Given the description of an element on the screen output the (x, y) to click on. 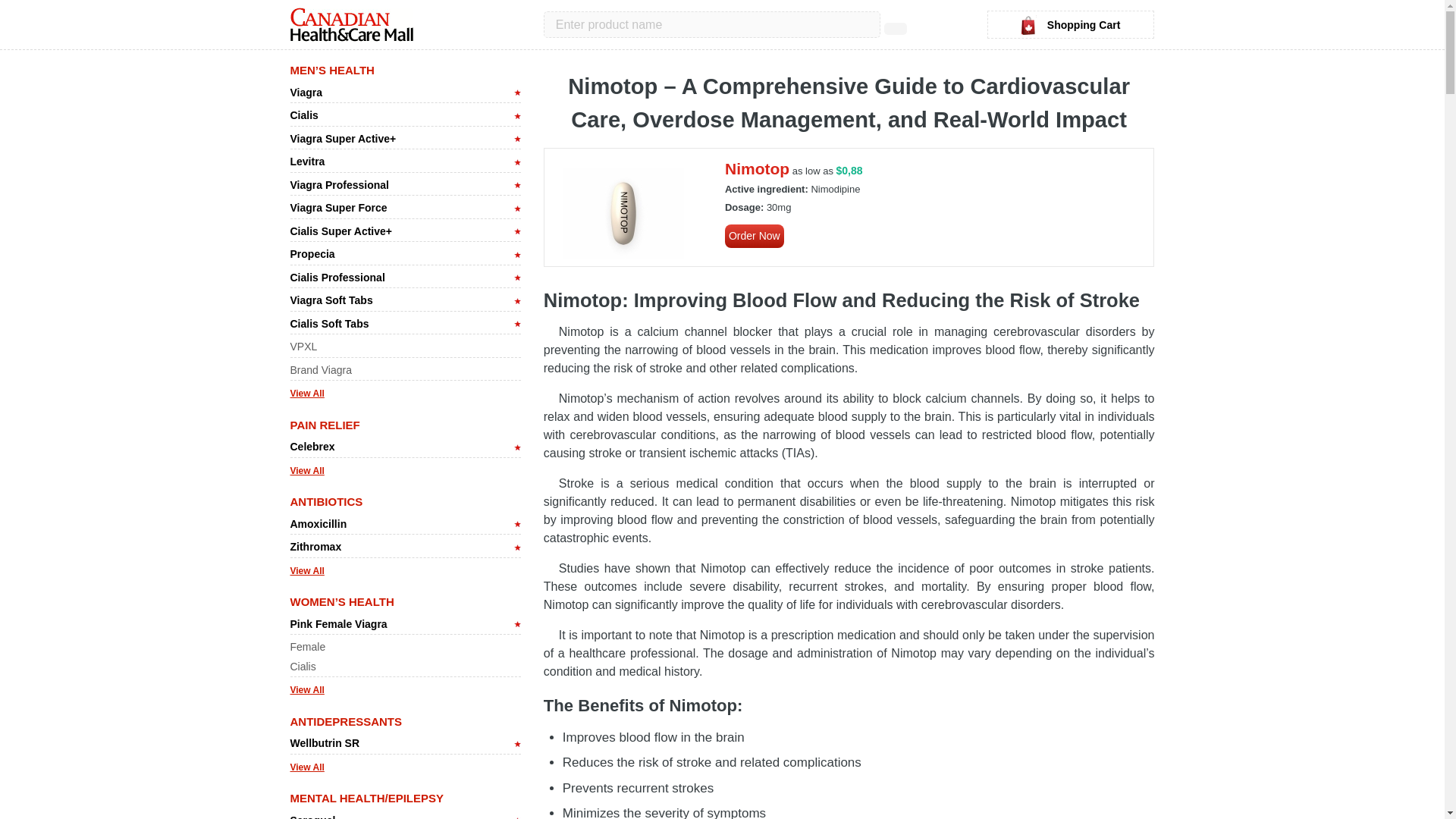
Nimotop (622, 212)
Nimotop (757, 168)
Enter product name (711, 24)
Cialis (303, 114)
Viagra (305, 92)
Nimotop (754, 236)
Nimotop (757, 168)
Order Now (754, 236)
